Given the description of an element on the screen output the (x, y) to click on. 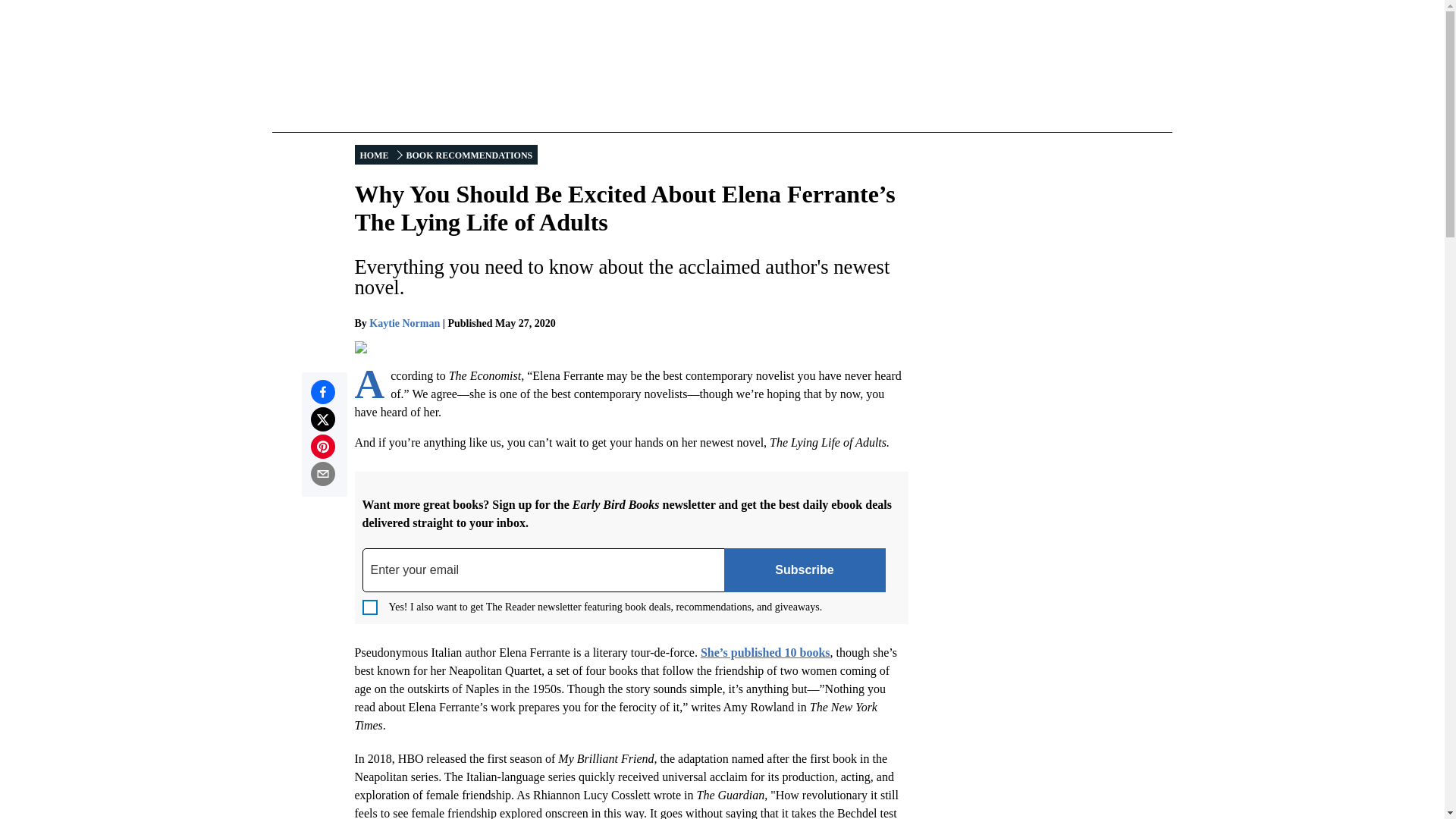
Kaytie Norman (404, 323)
elena ferrante the lying life of adults (449, 347)
HOME (374, 154)
BOOK RECOMMENDATIONS (468, 154)
Subscribe (804, 569)
